Given the description of an element on the screen output the (x, y) to click on. 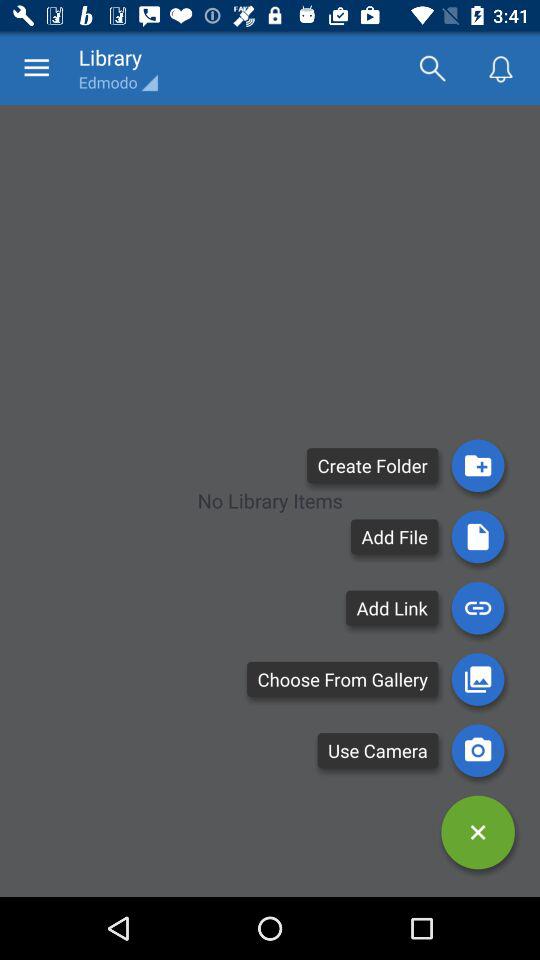
close the options (477, 832)
